Given the description of an element on the screen output the (x, y) to click on. 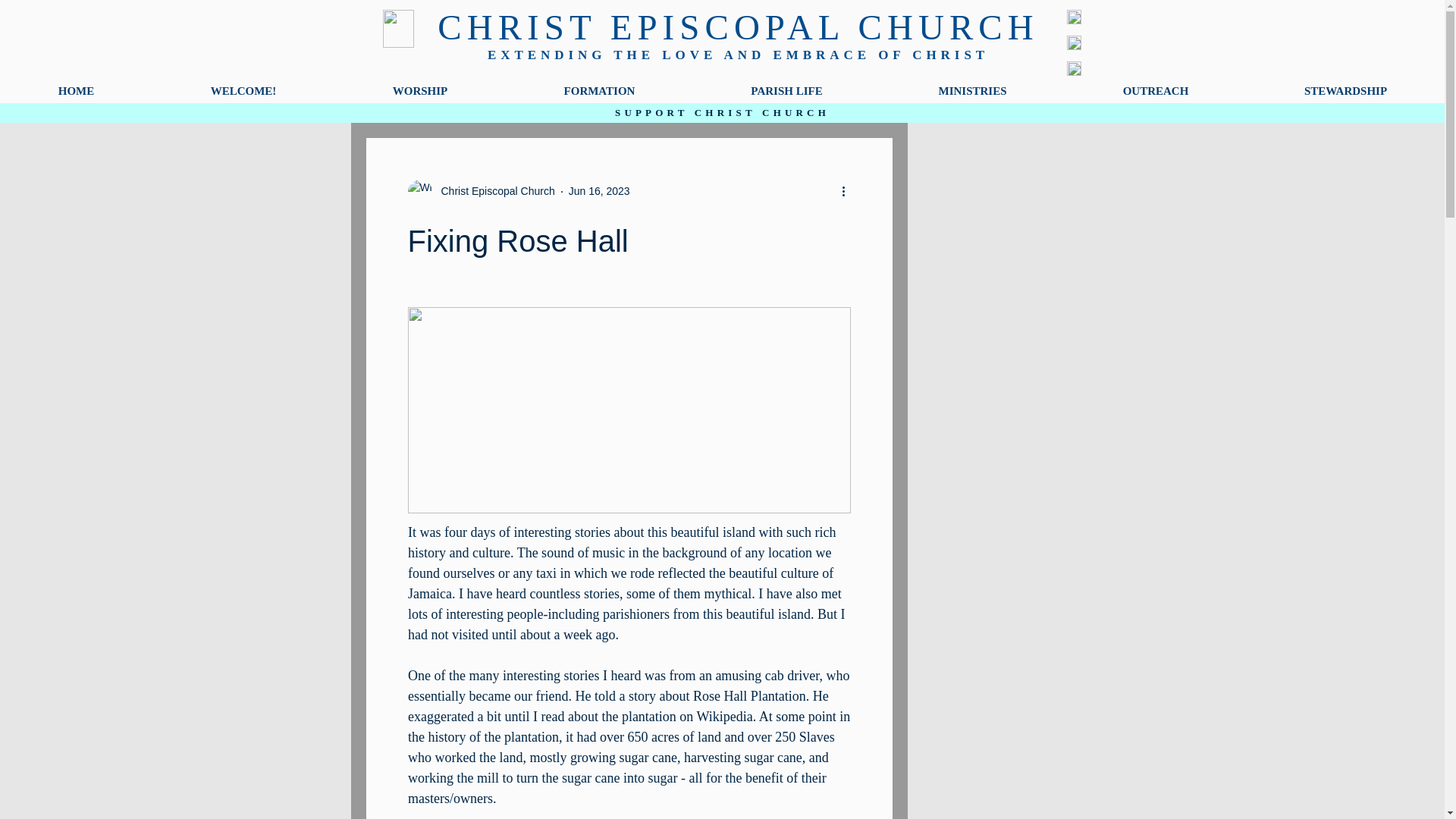
WORSHIP (419, 90)
Jun 16, 2023 (599, 191)
CHRIST EPISCOPAL CHURCH (738, 26)
EXTENDING THE LOVE AND EMBRACE OF CHRIST (737, 54)
HOME (76, 90)
MINISTRIES (972, 90)
Christ Episcopal Church (493, 191)
OUTREACH (1155, 90)
WELCOME! (243, 90)
FORMATION (599, 90)
PARISH LIFE (786, 90)
